Given the description of an element on the screen output the (x, y) to click on. 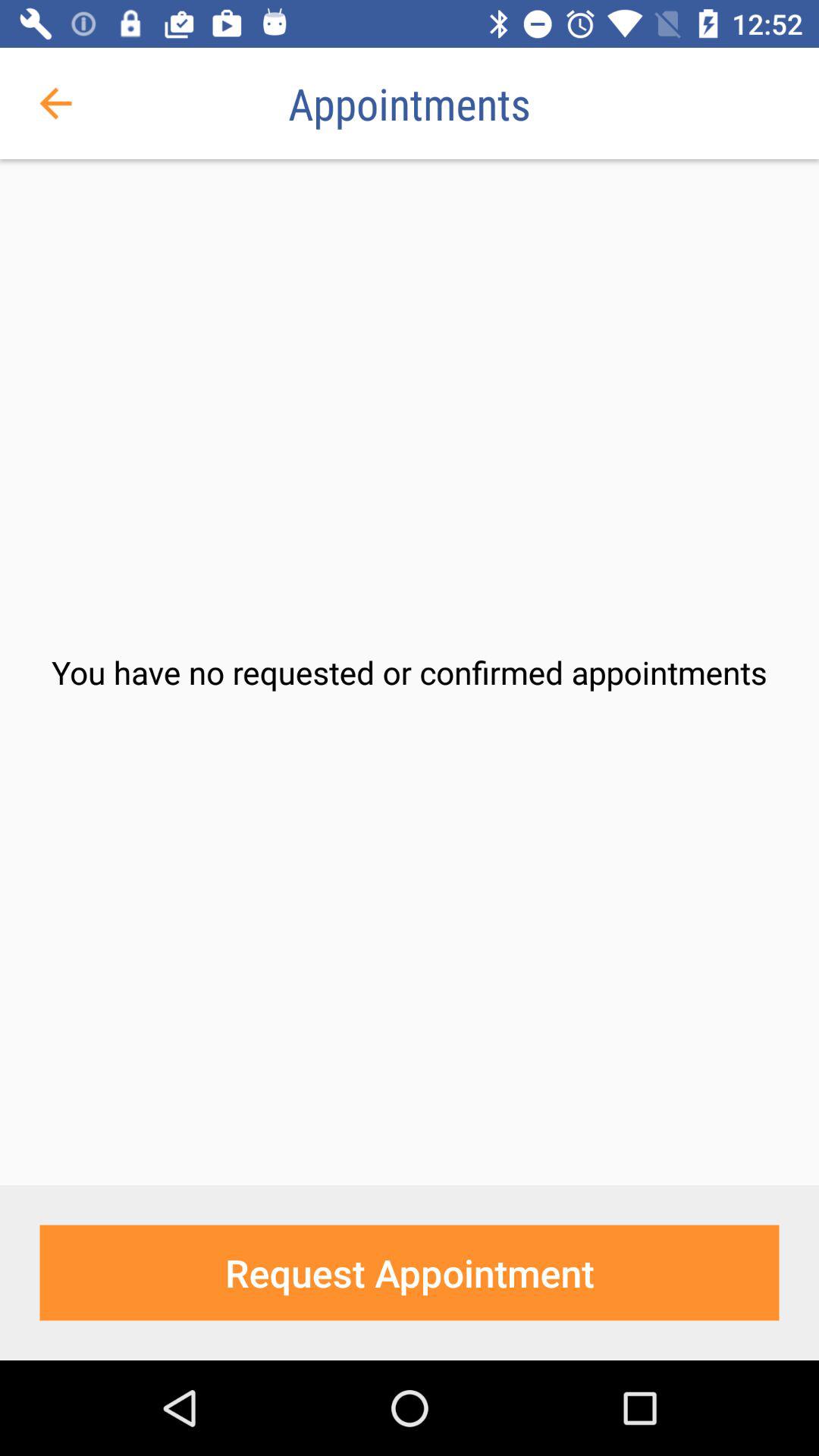
press the icon below the you have no (409, 1272)
